Given the description of an element on the screen output the (x, y) to click on. 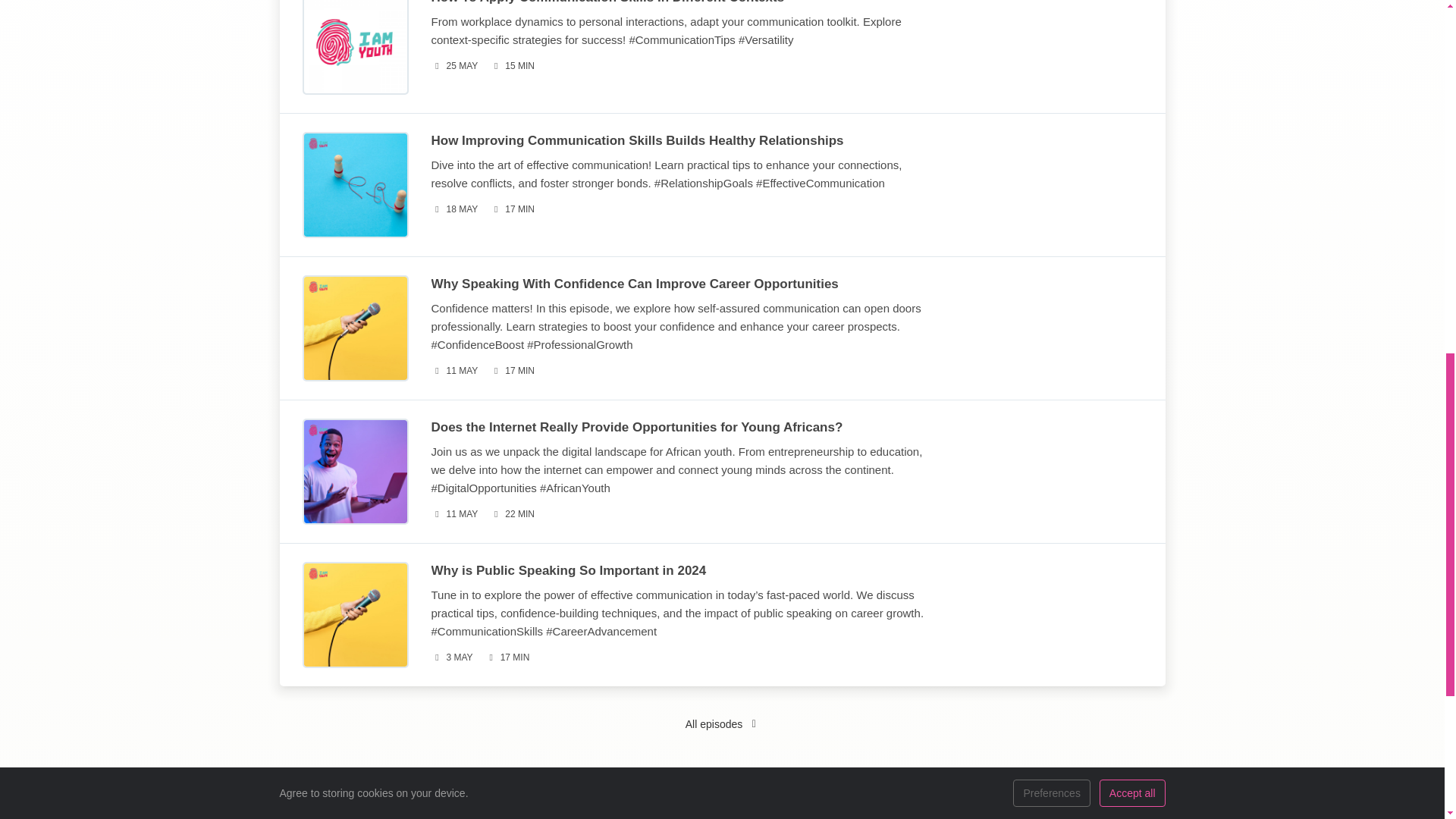
Published (453, 514)
Published (453, 371)
Published (453, 209)
Duration (511, 514)
Duration (511, 371)
Published (450, 657)
Published (453, 66)
Duration (511, 209)
Duration (511, 66)
